Given the description of an element on the screen output the (x, y) to click on. 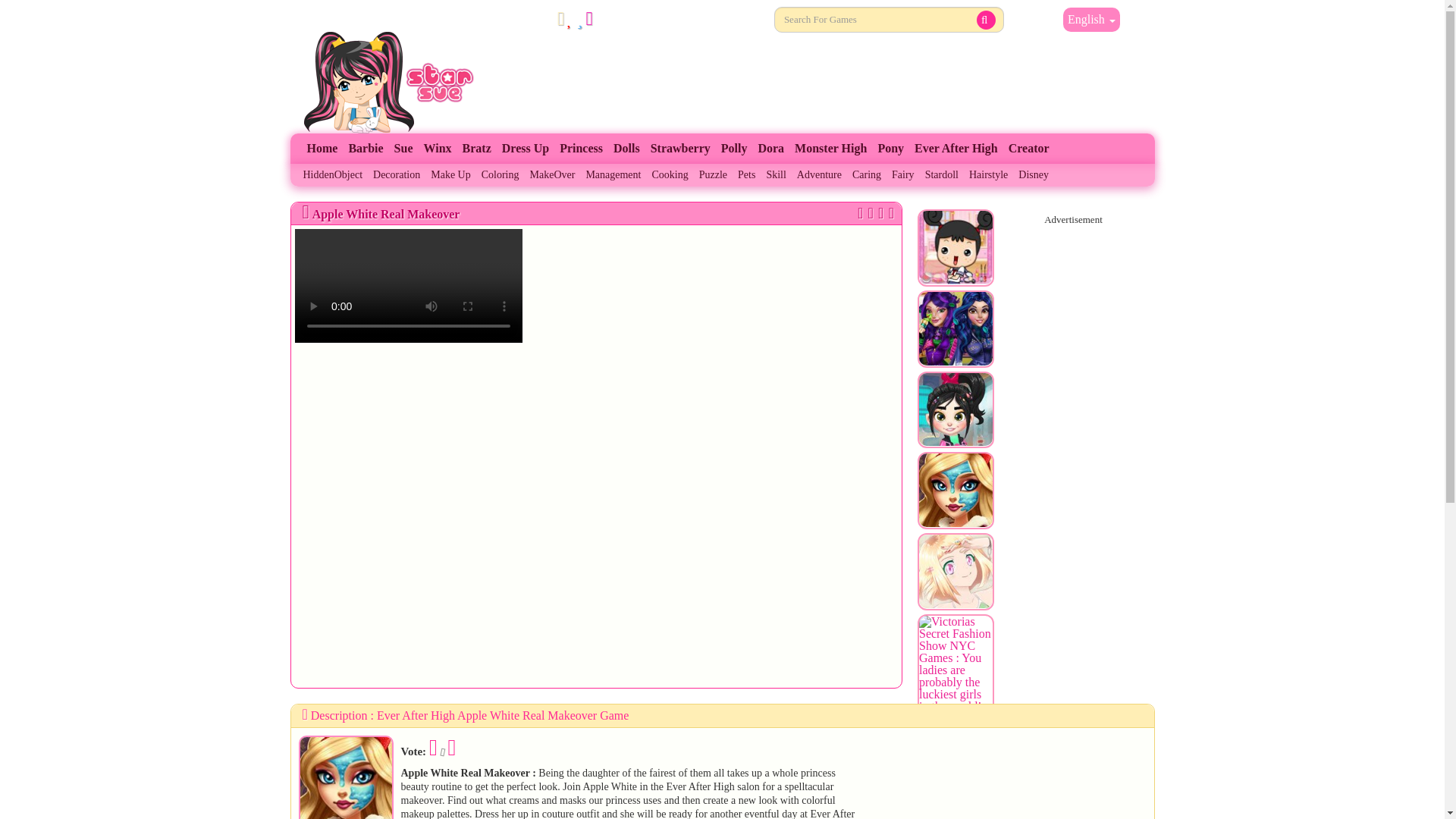
Caring (866, 174)
Dolls Games (626, 148)
Dress Up (525, 148)
Ever After High (955, 148)
Princess (581, 148)
Pony Games (890, 148)
Dora (770, 148)
Fairy (903, 174)
Decoration (396, 174)
Barbie Games (365, 148)
